Given the description of an element on the screen output the (x, y) to click on. 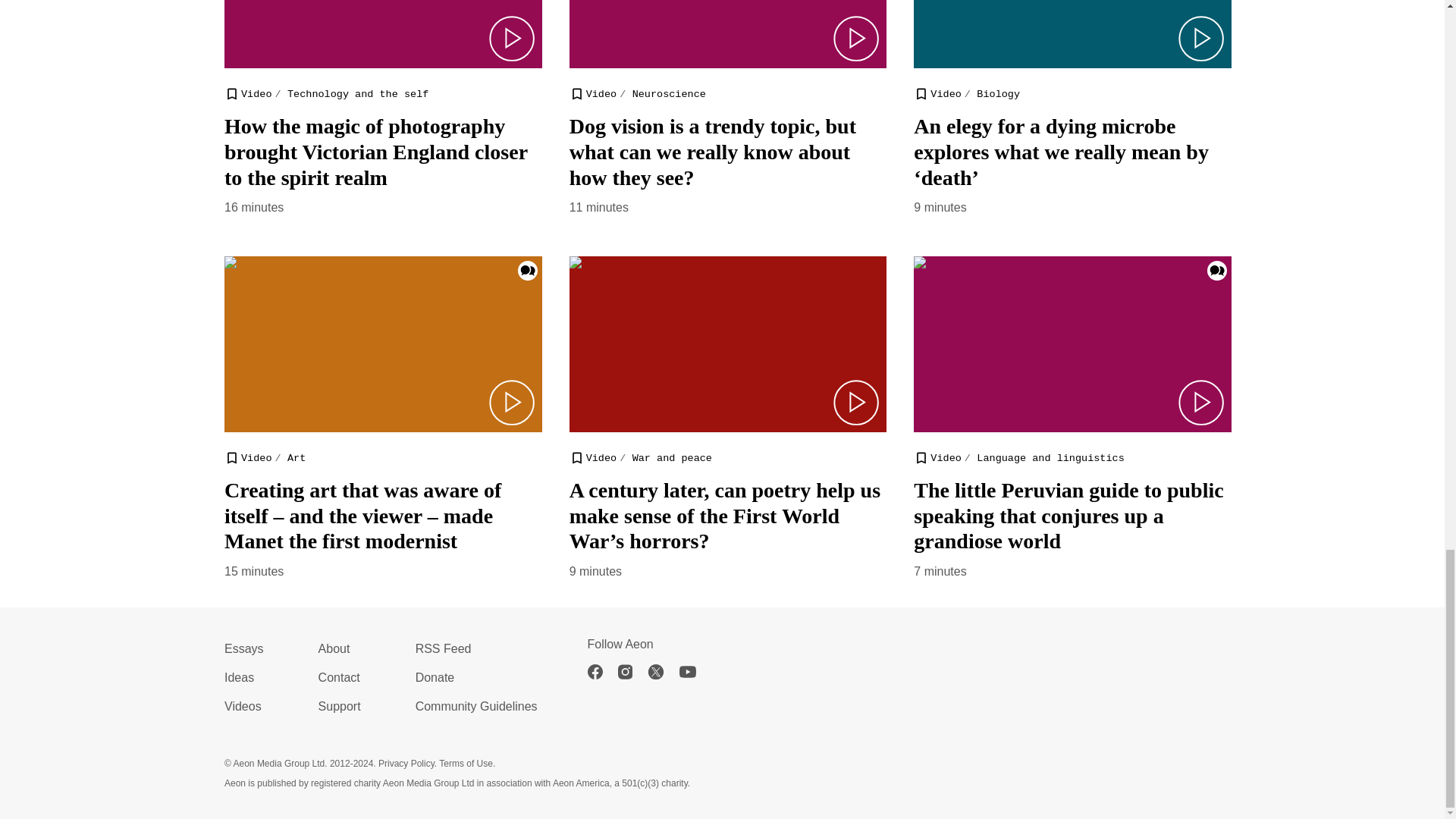
YouTube (695, 671)
Instagram (632, 671)
Facebook (602, 671)
